Given the description of an element on the screen output the (x, y) to click on. 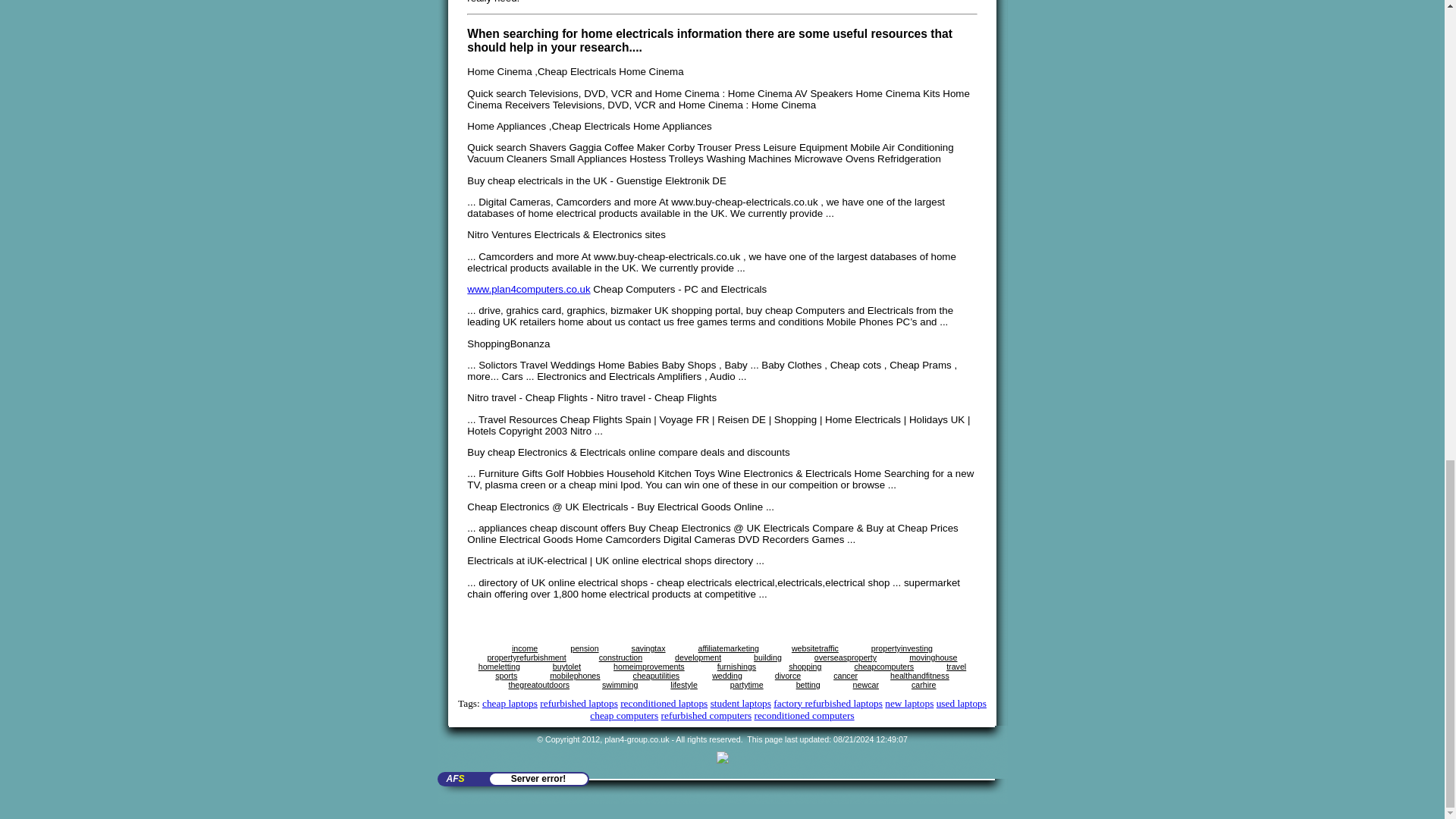
sports (505, 675)
cheapcomputers (883, 665)
building (767, 656)
savingtax (648, 647)
income (524, 647)
cancer (844, 675)
Get afsanalytics counter for your website! (538, 778)
mobilephones (574, 675)
websitetraffic (815, 647)
thegreatoutdoors (538, 684)
